Given the description of an element on the screen output the (x, y) to click on. 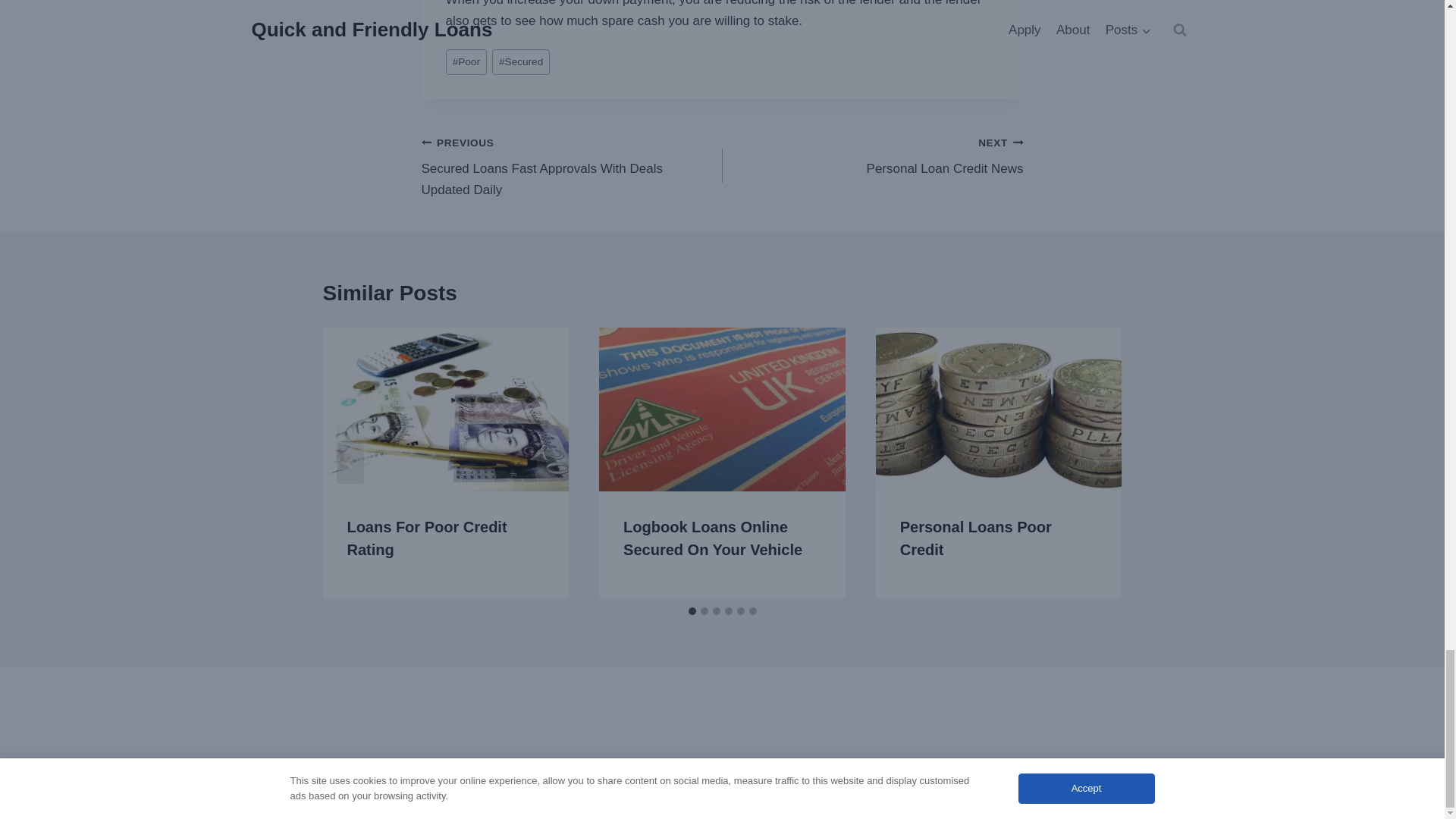
Poor (466, 62)
Secured (521, 62)
